Given the description of an element on the screen output the (x, y) to click on. 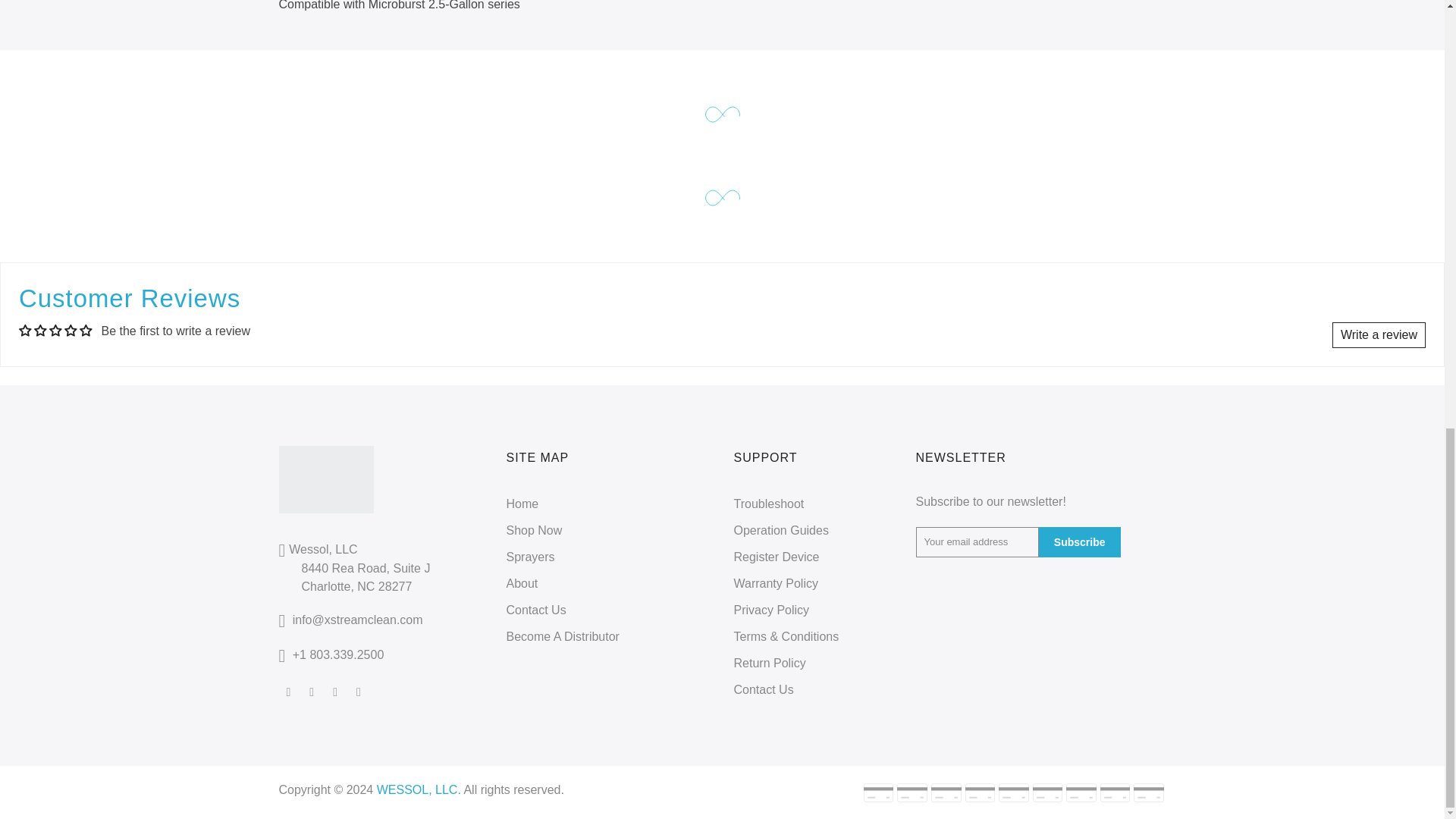
Register Device (776, 556)
Sprayers (530, 556)
Subscribe (1080, 542)
Home (522, 503)
About (522, 583)
Warranty Policy (775, 583)
Write a review (1378, 335)
Contact Us (763, 689)
Privacy Policy (771, 609)
Contact Us (536, 609)
Become A Distributor (563, 635)
Shop Now (534, 530)
Return Policy (769, 662)
Operation Guides (780, 530)
Troubleshoot (769, 503)
